Given the description of an element on the screen output the (x, y) to click on. 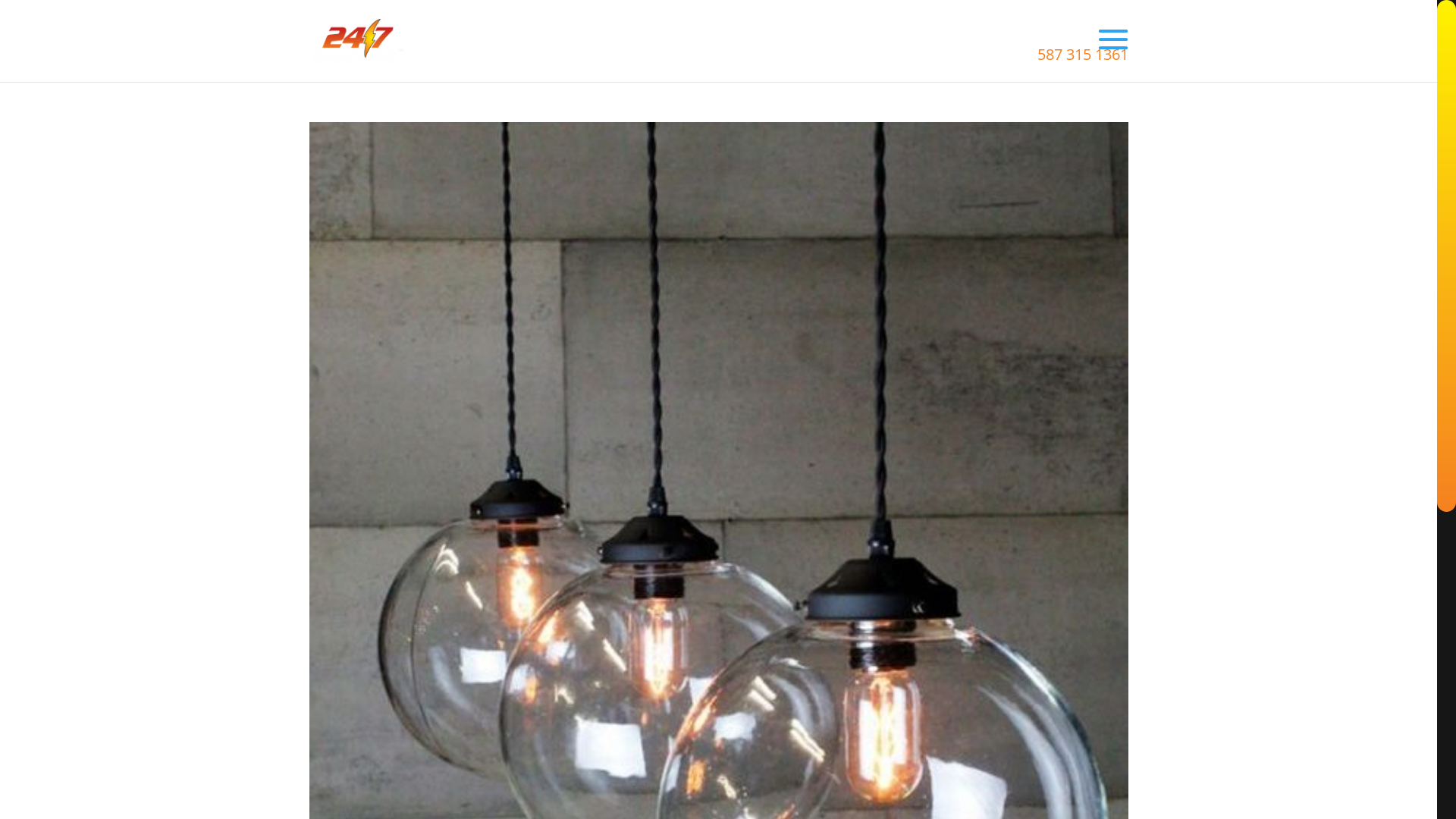
587 315 1361 Element type: text (1082, 53)
